Given the description of an element on the screen output the (x, y) to click on. 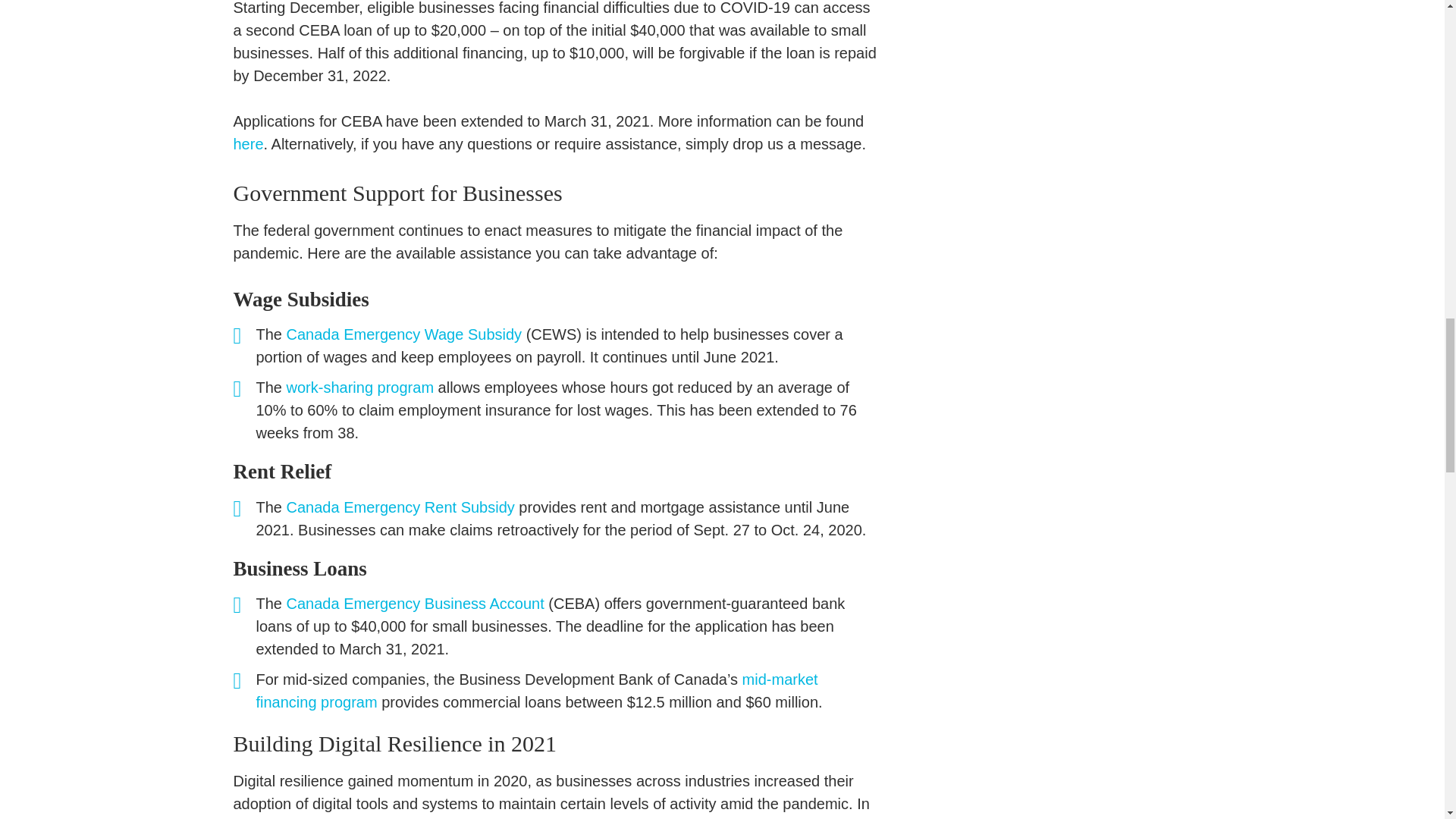
here (247, 143)
Canada Emergency Rent Subsidy (400, 506)
Canada Emergency Wage Subsidy (404, 334)
Canada Emergency Business Account (415, 603)
work-sharing program (359, 387)
mid-market financing program (537, 690)
